Given the description of an element on the screen output the (x, y) to click on. 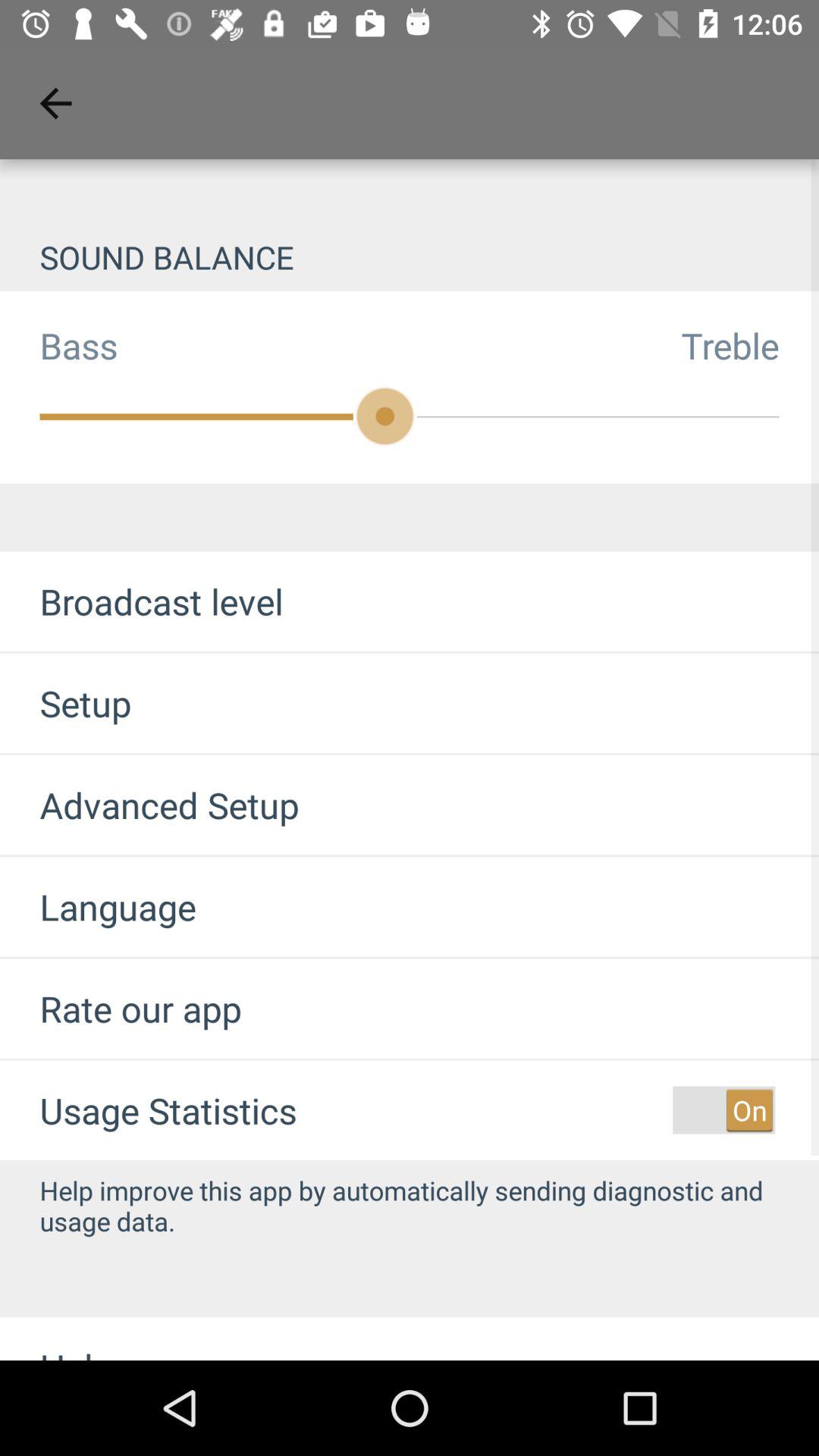
jump until treble icon (750, 345)
